Given the description of an element on the screen output the (x, y) to click on. 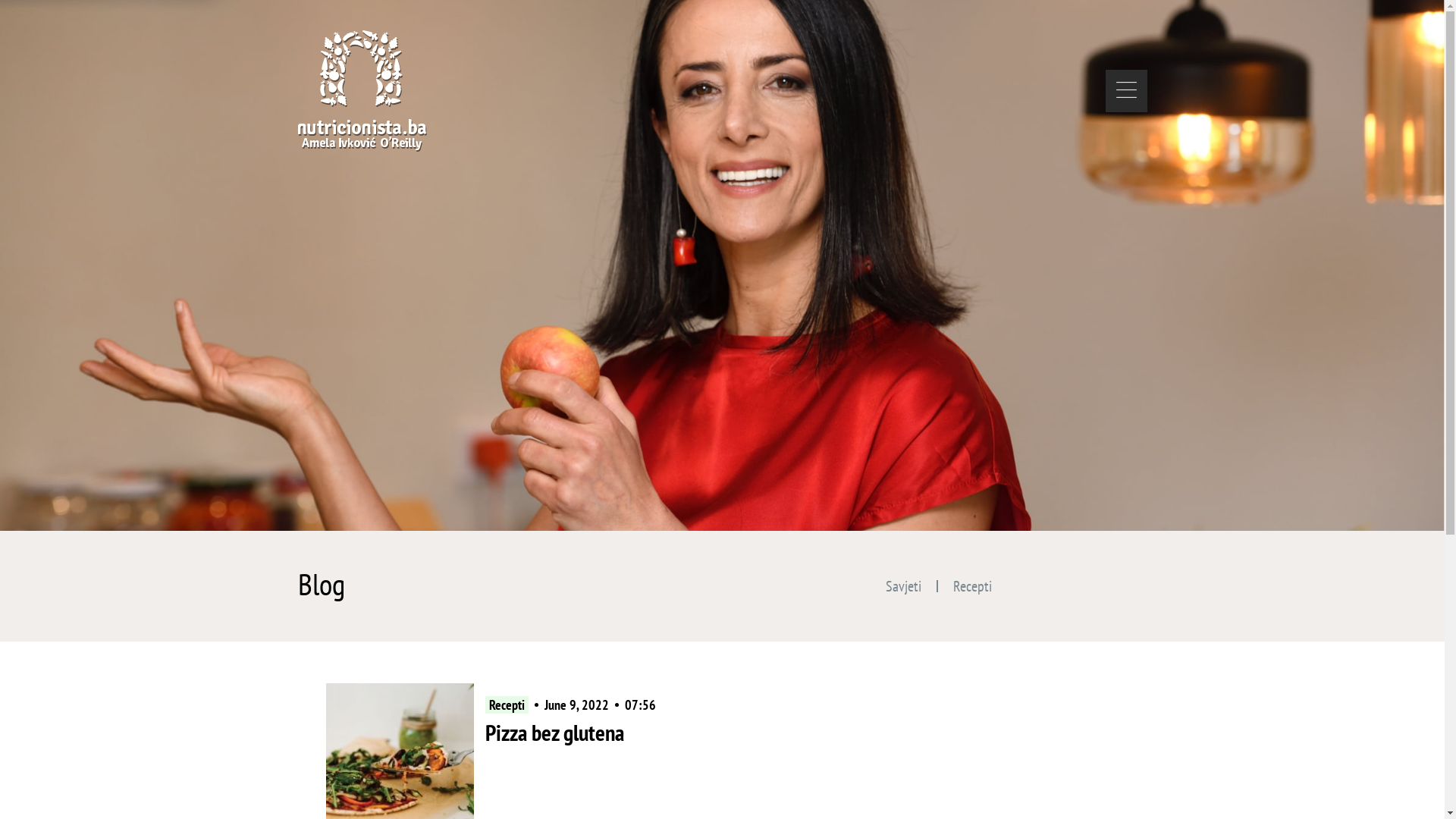
Recepti Element type: text (506, 704)
June 9, 2022 Element type: text (576, 704)
Recepti Element type: text (971, 585)
Pizza bez glutena Element type: text (554, 731)
Savjeti Element type: text (903, 585)
